Given the description of an element on the screen output the (x, y) to click on. 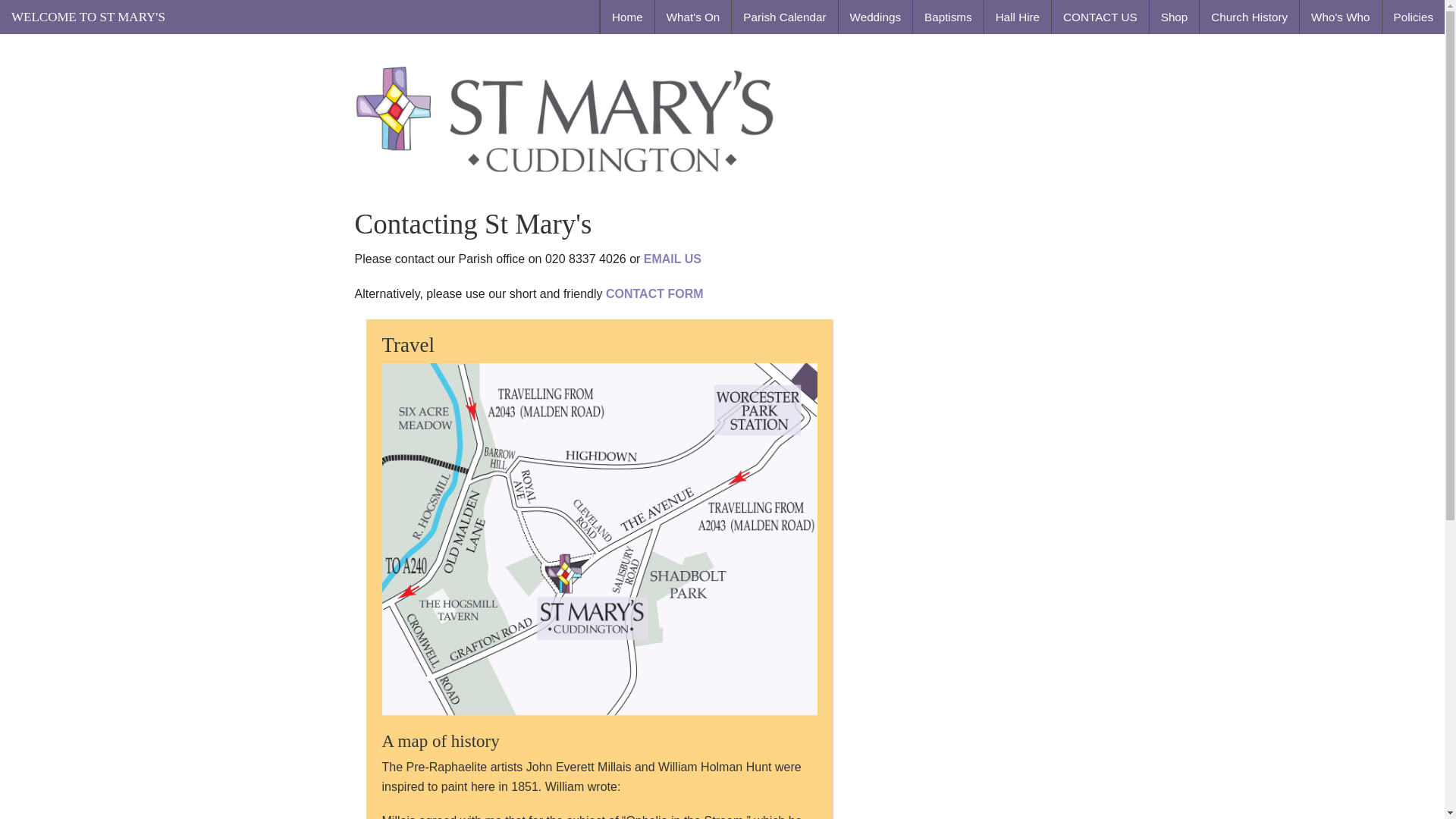
Home (626, 17)
WELCOME TO ST MARY'S (88, 17)
Hall Hire (1017, 17)
EMAIL US (672, 258)
CONTACT US (1099, 17)
CONTACT FORM (654, 293)
Baptisms (948, 17)
Weddings (875, 17)
What's On (693, 17)
Church History (1248, 17)
